Given the description of an element on the screen output the (x, y) to click on. 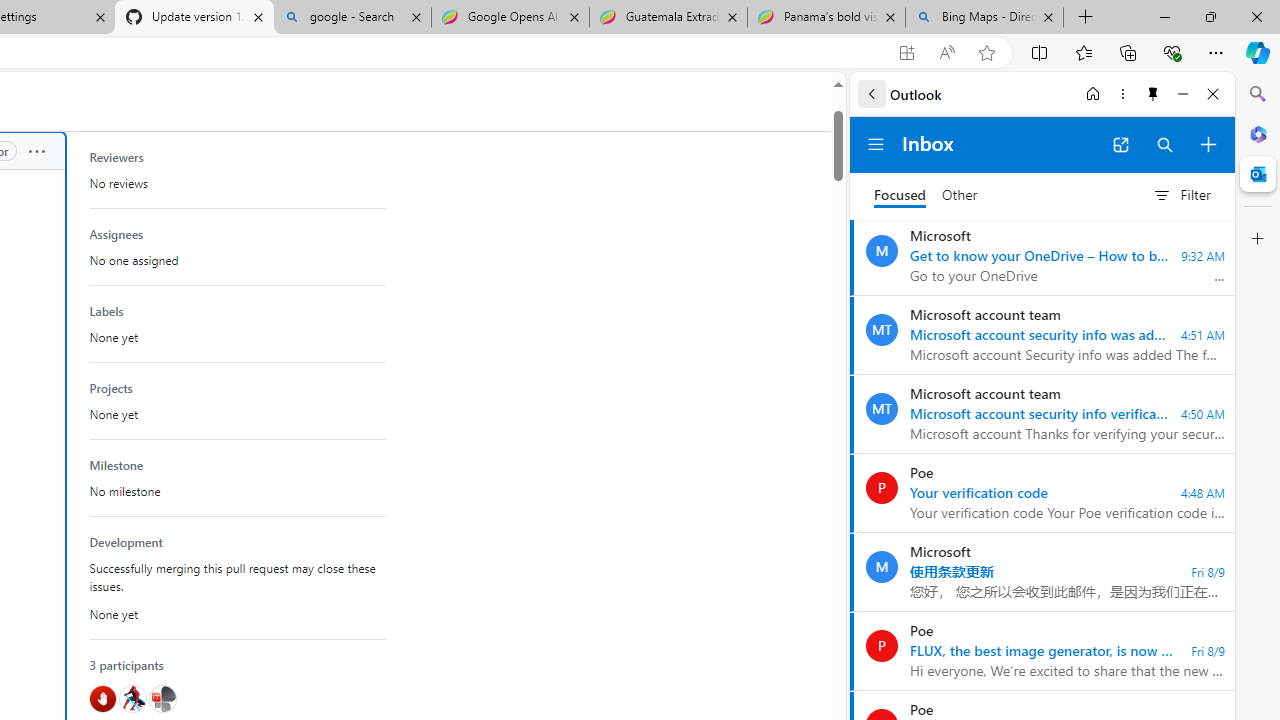
Filter (1181, 195)
@hawkeye116477 (132, 699)
Folder navigation (876, 144)
Show options (36, 151)
Focused Inbox, toggle to go to Other Inbox (925, 195)
Focused (900, 195)
Show options (36, 151)
